Given the description of an element on the screen output the (x, y) to click on. 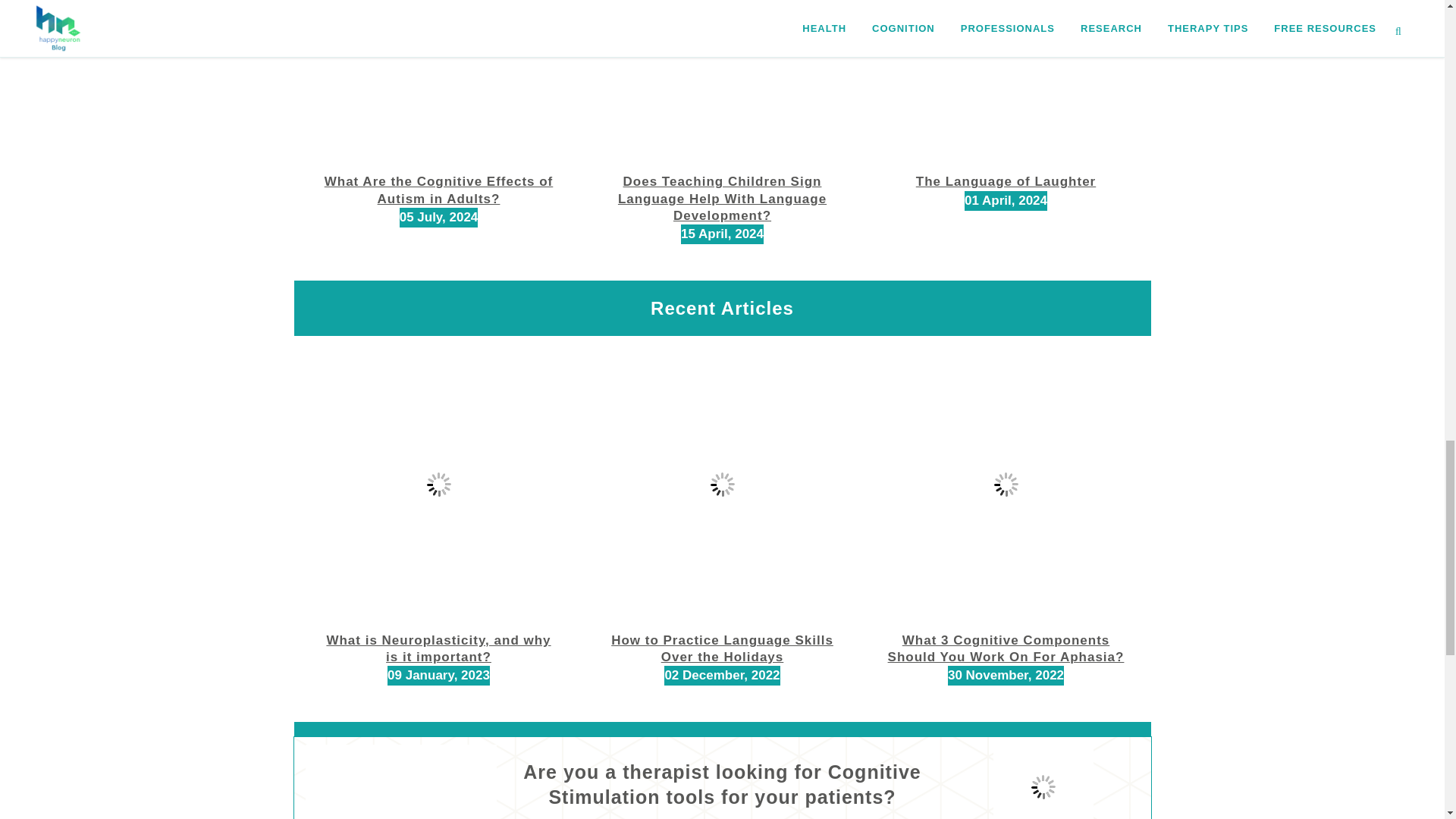
How to Practice Language Skills Over the Holidays (721, 648)
What 3 Cognitive Components Should You Work On For Aphasia? (1006, 648)
Free Worksheet Sample (1042, 778)
HappyNeuron Pro Logo (400, 781)
What Are the Cognitive Effects of Autism in Adults? (438, 189)
The Language of Laughter (1005, 181)
What is Neuroplasticity, and why is it important? (438, 648)
